Given the description of an element on the screen output the (x, y) to click on. 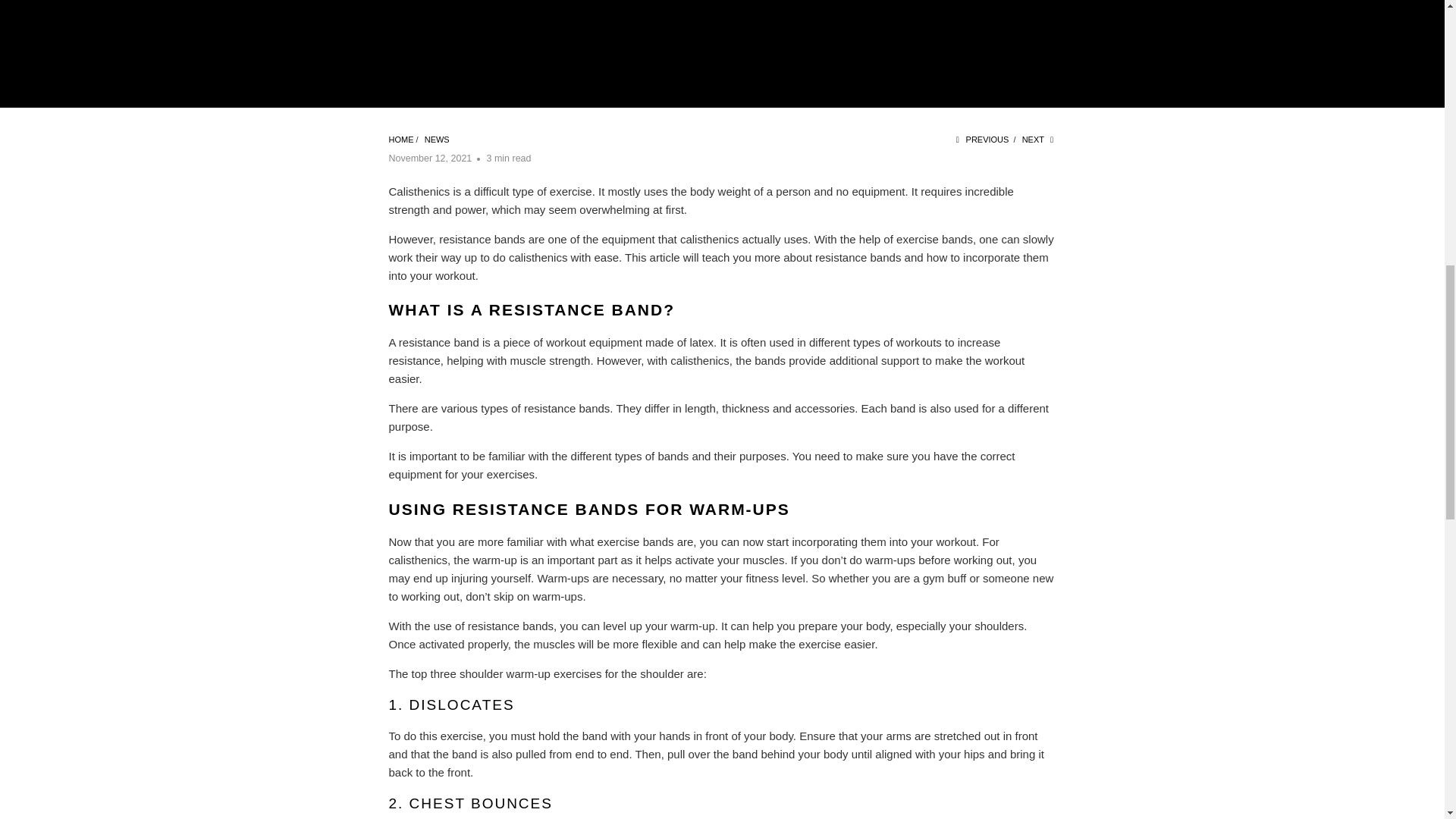
News (437, 139)
